Given the description of an element on the screen output the (x, y) to click on. 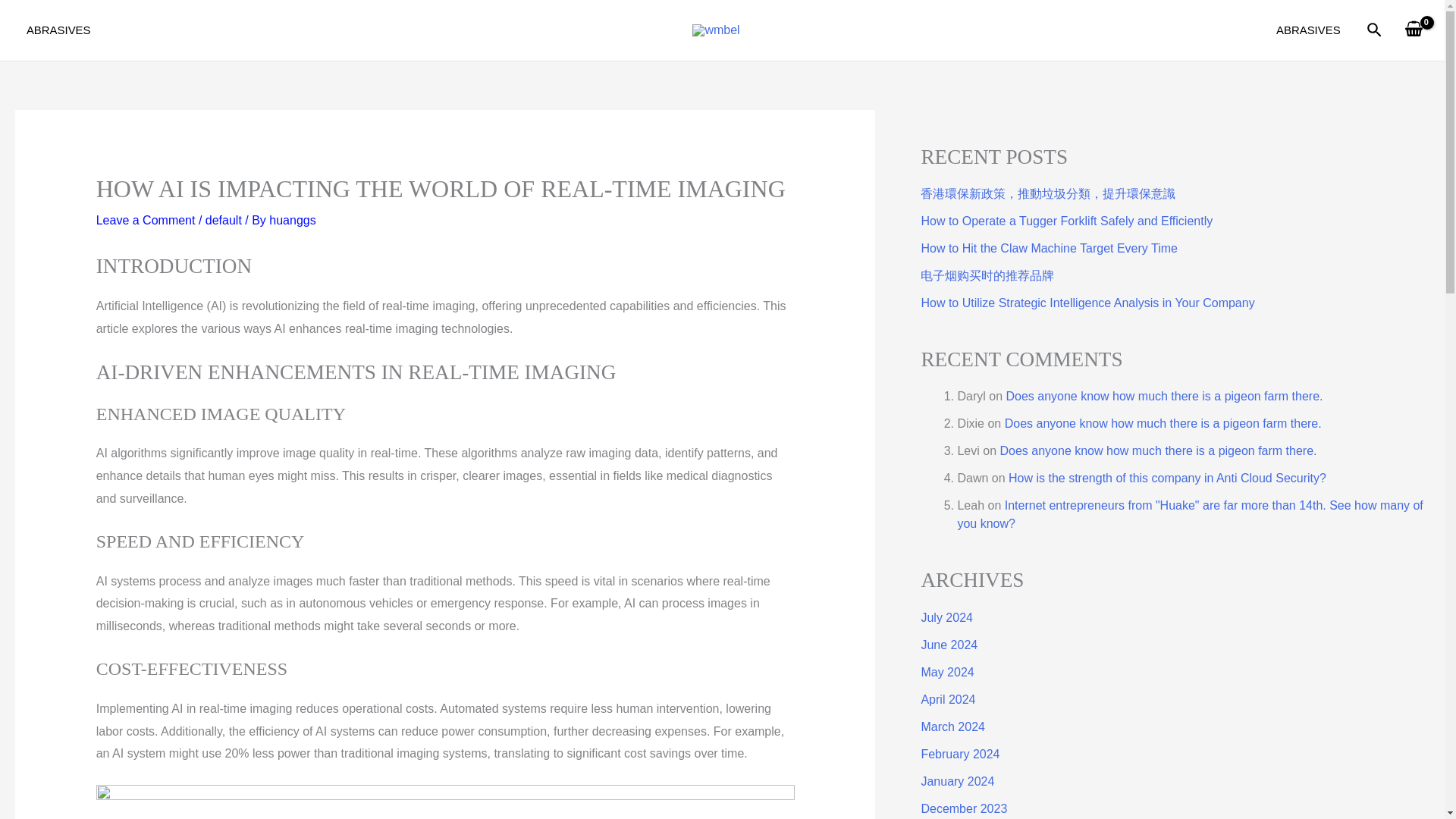
ABRASIVES (1308, 30)
Does anyone know how much there is a pigeon farm there. (1163, 422)
December 2023 (963, 808)
How to Hit the Claw Machine Target Every Time (1048, 247)
View all posts by huanggs (292, 219)
June 2024 (948, 644)
July 2024 (946, 617)
default (223, 219)
Does anyone know how much there is a pigeon farm there. (1164, 395)
How is the strength of this company in Anti Cloud Security? (1167, 477)
January 2024 (957, 780)
Does anyone know how much there is a pigeon farm there. (1157, 450)
ABRASIVES (57, 30)
